Given the description of an element on the screen output the (x, y) to click on. 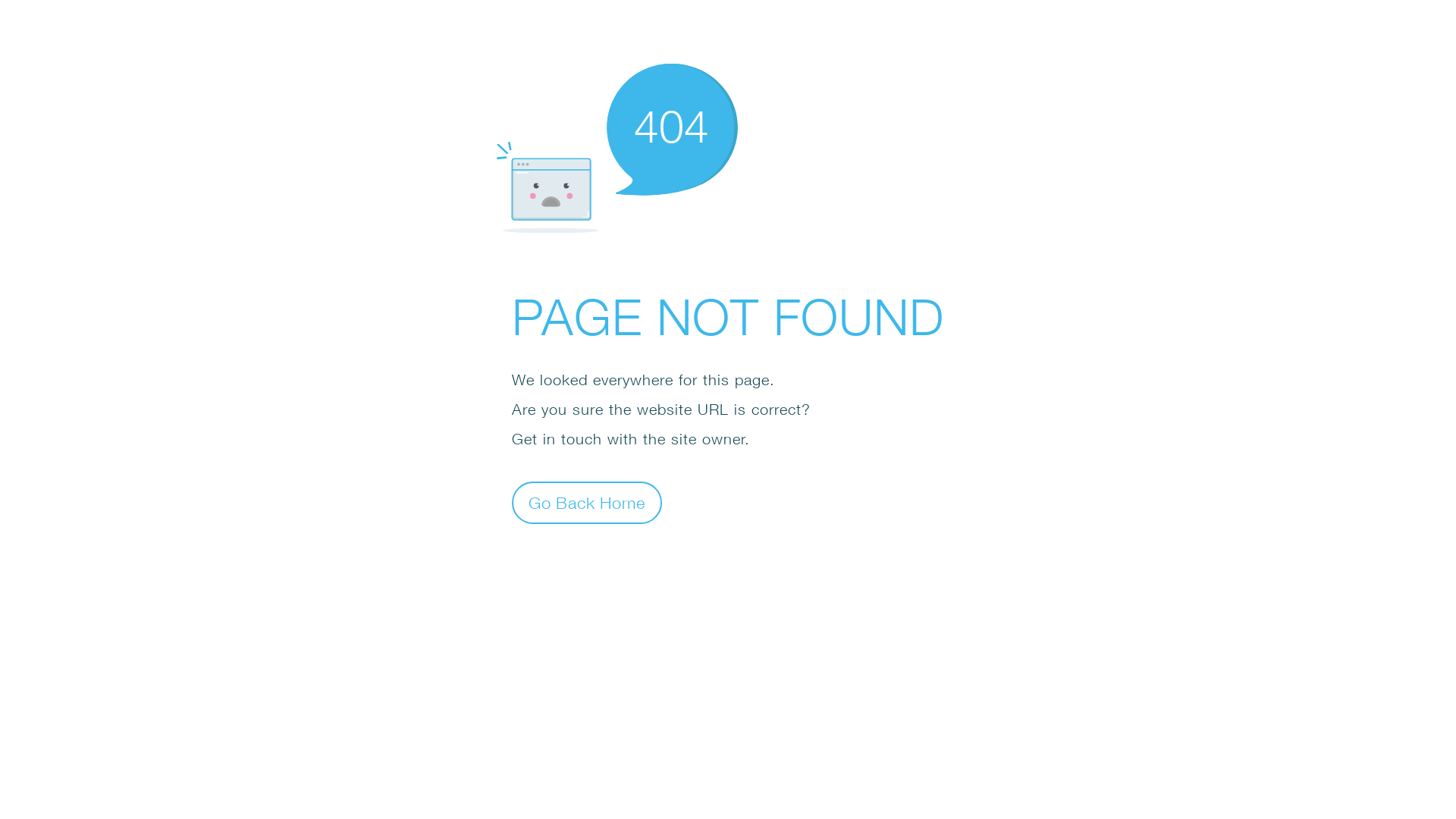
Go Back Home Element type: text (586, 502)
